Given the description of an element on the screen output the (x, y) to click on. 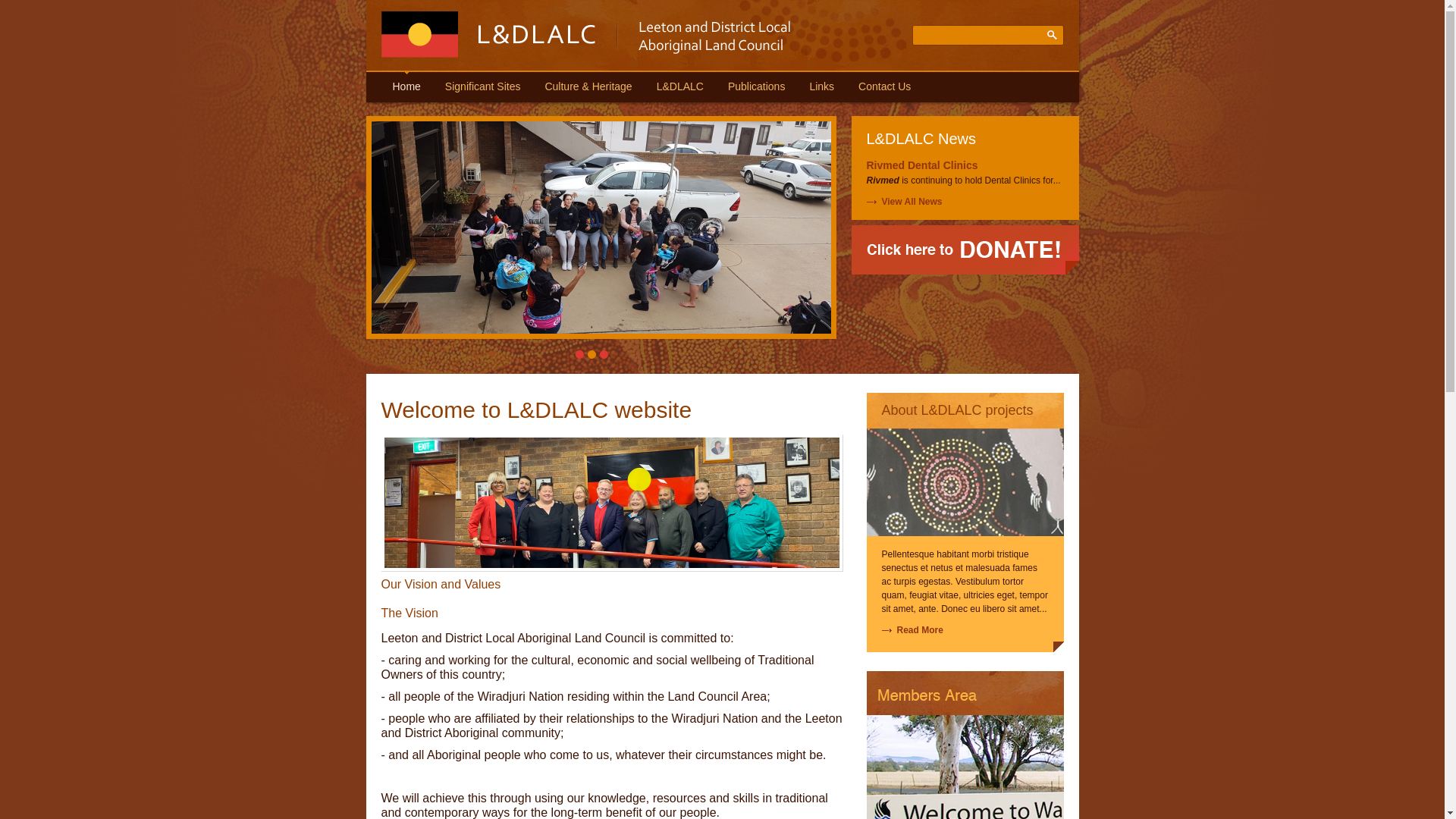
Home Element type: hover (488, 34)
Rivmed Dental Clinics Element type: text (921, 165)
Links Element type: text (821, 86)
Publications Element type: text (756, 86)
Skip to main content Element type: text (41, 0)
L&DLALC Element type: text (679, 86)
Contact Us Element type: text (884, 86)
Read More Element type: text (911, 629)
Home Element type: text (406, 86)
Search Element type: text (1050, 34)
Culture & Heritage Element type: text (587, 86)
Home Element type: hover (488, 54)
Significant Sites Element type: text (482, 86)
Enter the terms you wish to search for. Element type: hover (974, 35)
View All News Element type: text (911, 201)
